Given the description of an element on the screen output the (x, y) to click on. 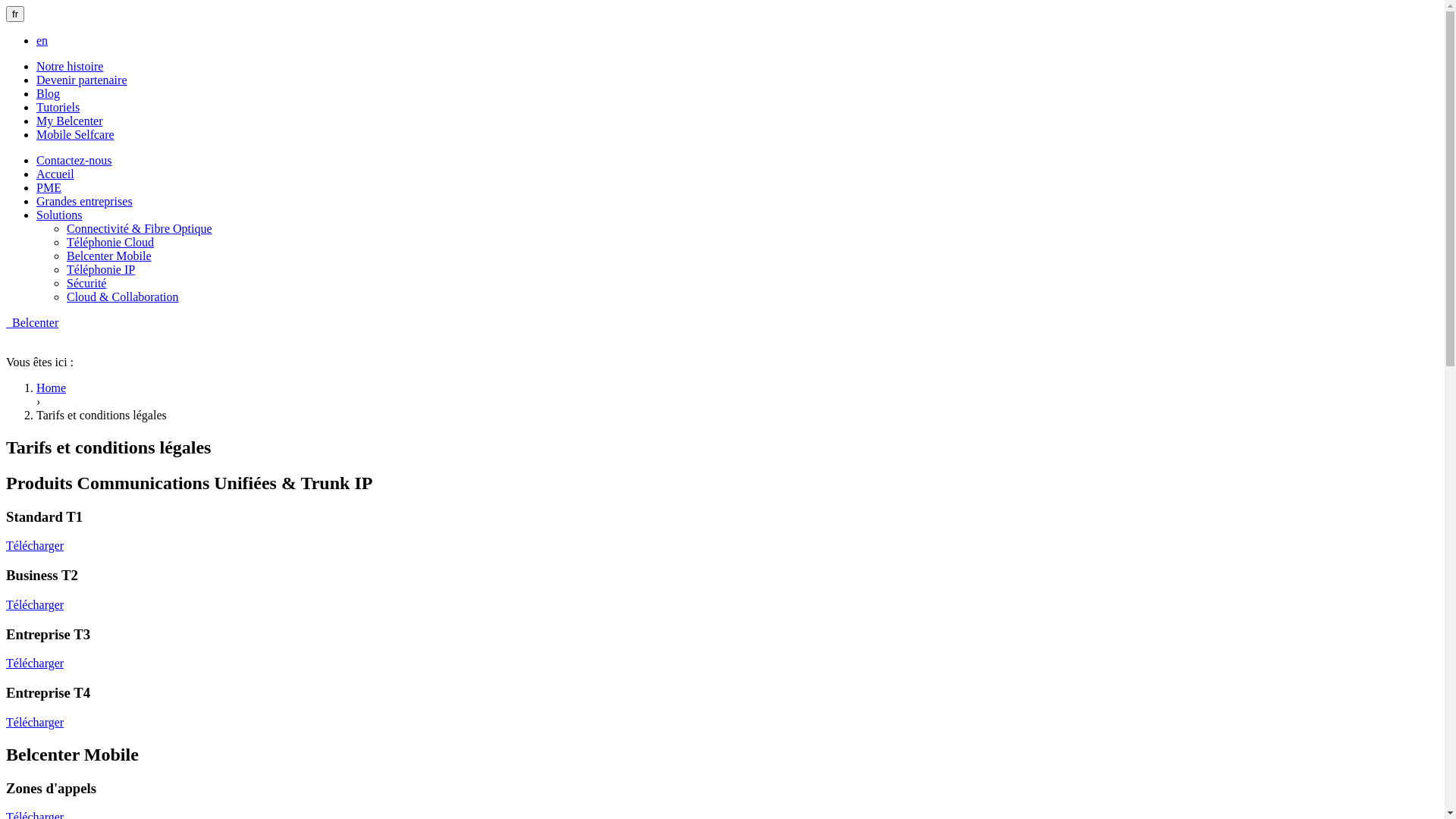
Notre histoire Element type: text (69, 65)
Blog Element type: text (47, 93)
My Belcenter Element type: text (69, 120)
Cloud & Collaboration Element type: text (122, 296)
en Element type: text (41, 40)
Tutoriels Element type: text (57, 106)
Solutions Element type: text (58, 214)
Home Element type: text (50, 387)
Accueil Element type: text (55, 173)
Grandes entreprises Element type: text (84, 200)
fr Element type: text (15, 13)
Devenir partenaire Element type: text (81, 79)
Belcenter Element type: text (32, 322)
Contactez-nous Element type: text (74, 159)
PME Element type: text (48, 187)
Mobile Selfcare Element type: text (75, 134)
Belcenter Mobile Element type: text (108, 255)
